Given the description of an element on the screen output the (x, y) to click on. 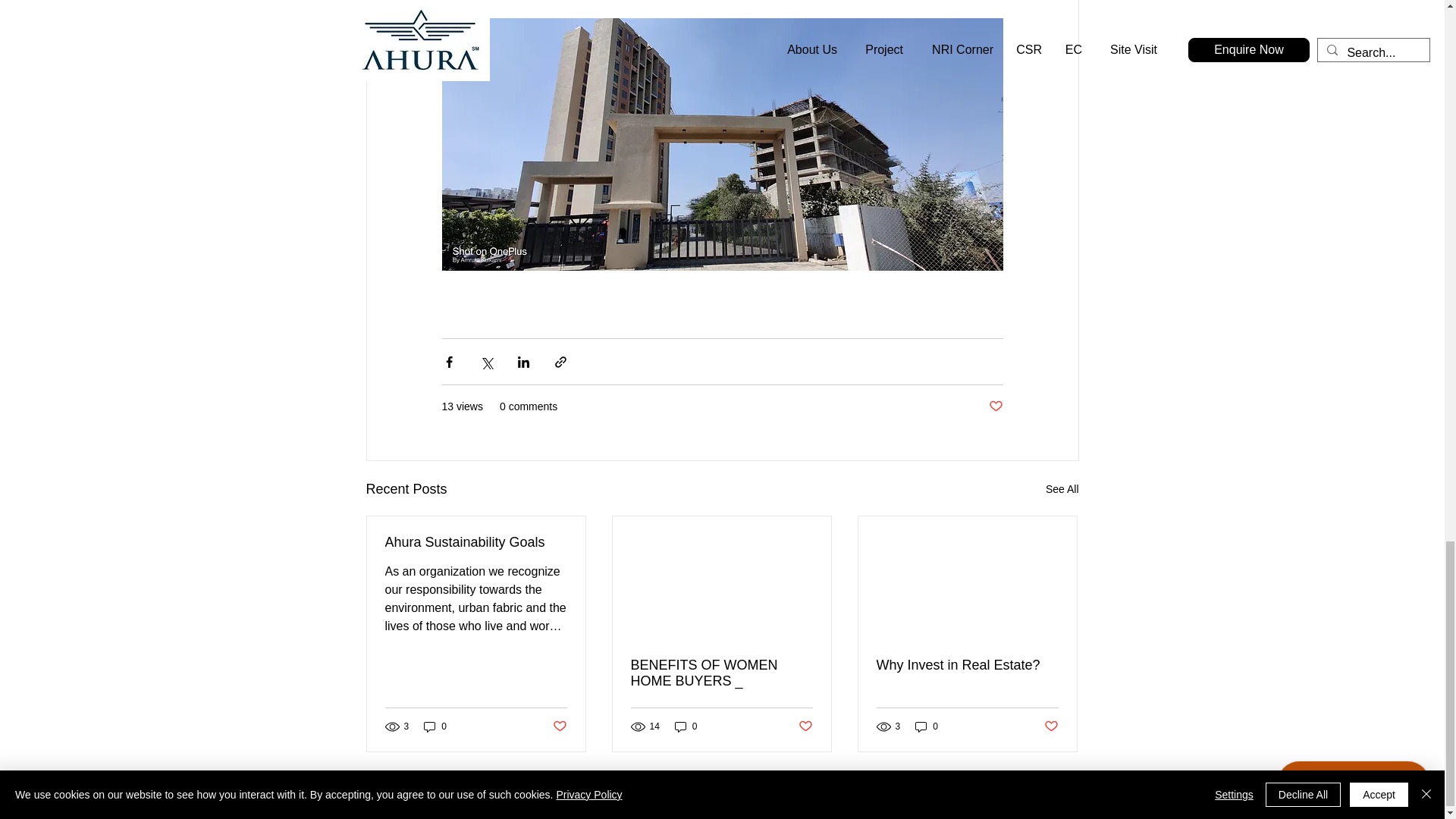
Post not marked as liked (995, 406)
Why Invest in Real Estate? (967, 665)
Ahura Sustainability Goals (476, 542)
0 (435, 726)
Post not marked as liked (804, 726)
Post not marked as liked (558, 726)
Post not marked as liked (1050, 726)
0 (685, 726)
0 (926, 726)
See All (1061, 489)
